Given the description of an element on the screen output the (x, y) to click on. 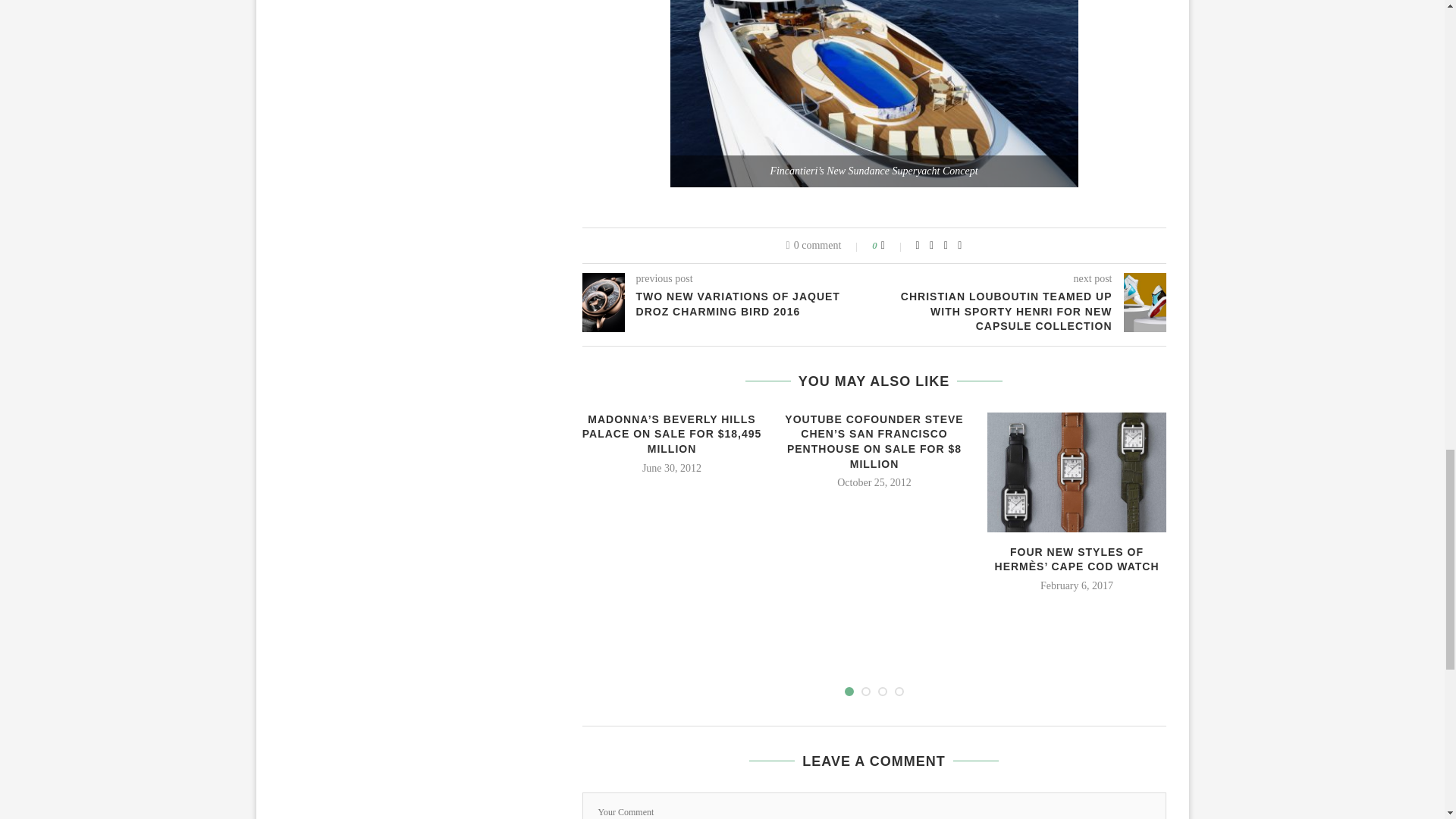
Like (892, 245)
